Given the description of an element on the screen output the (x, y) to click on. 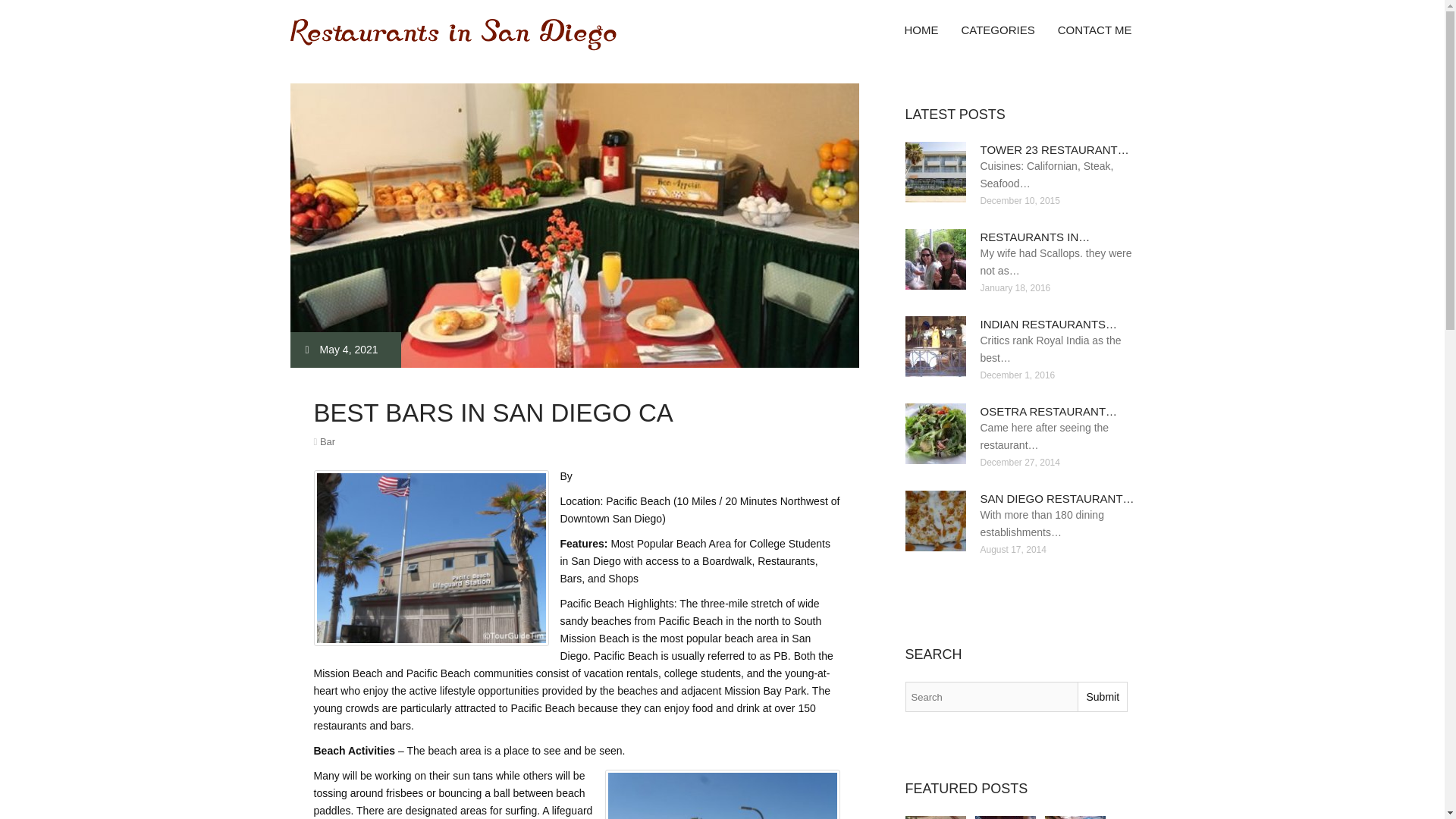
Broken Yolk Cafe San Diego CA (1005, 817)
Spices Thai Cafe San Diego CA (935, 817)
Bar (327, 441)
pacific-beach-lifeguard (431, 558)
CONTACT ME (1094, 30)
HOME (920, 30)
CATEGORIES (997, 30)
Cafe Coyote San Diego CA (1075, 817)
Submit (1101, 696)
pacific-beach-boardwalk (722, 794)
Submit (1101, 696)
